Given the description of an element on the screen output the (x, y) to click on. 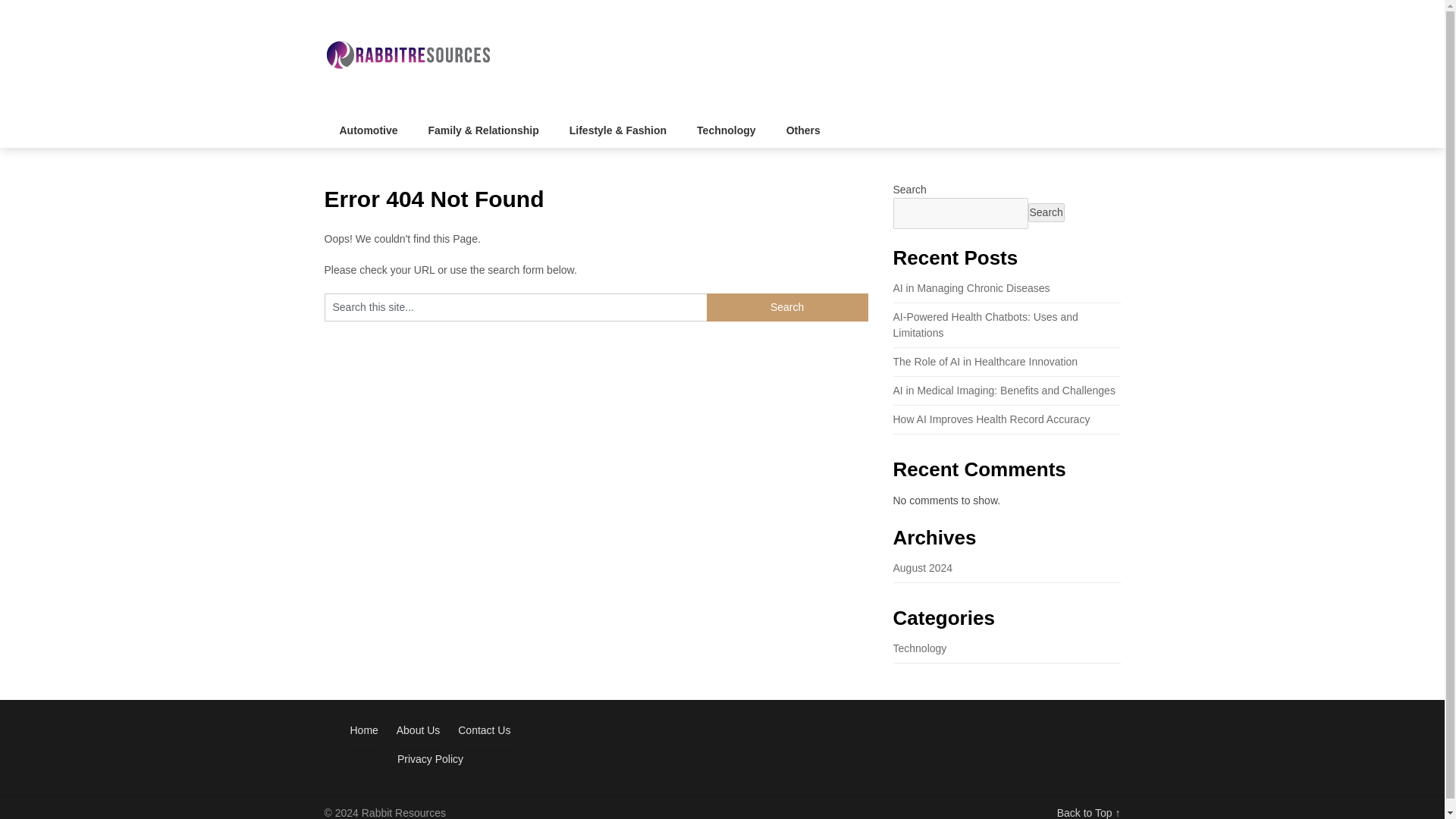
The Role of AI in Healthcare Innovation (985, 361)
Others (803, 130)
Search (786, 307)
AI in Medical Imaging: Benefits and Challenges (1004, 390)
Search (1045, 212)
About Us (418, 729)
AI in Managing Chronic Diseases (971, 287)
AI-Powered Health Chatbots: Uses and Limitations (985, 325)
Automotive (368, 130)
